Given the description of an element on the screen output the (x, y) to click on. 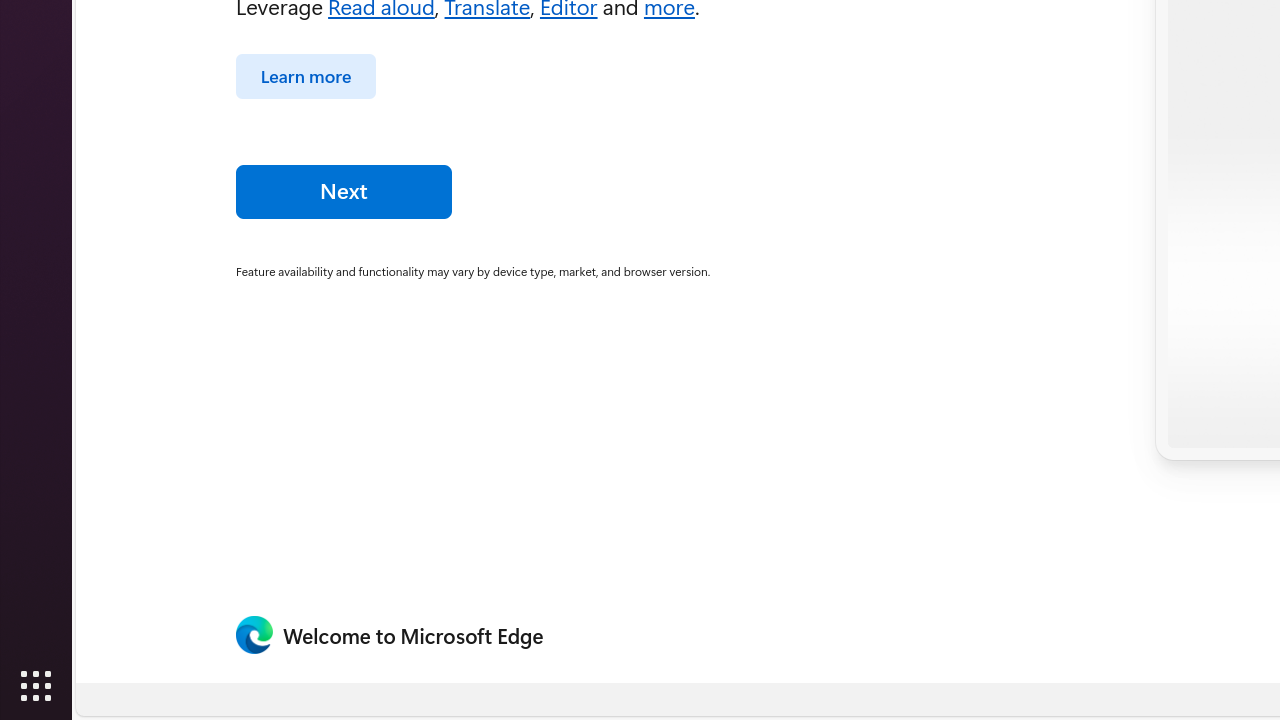
Show Applications Element type: toggle-button (36, 686)
Learn more Element type: link (306, 76)
Next Element type: push-button (344, 191)
